Given the description of an element on the screen output the (x, y) to click on. 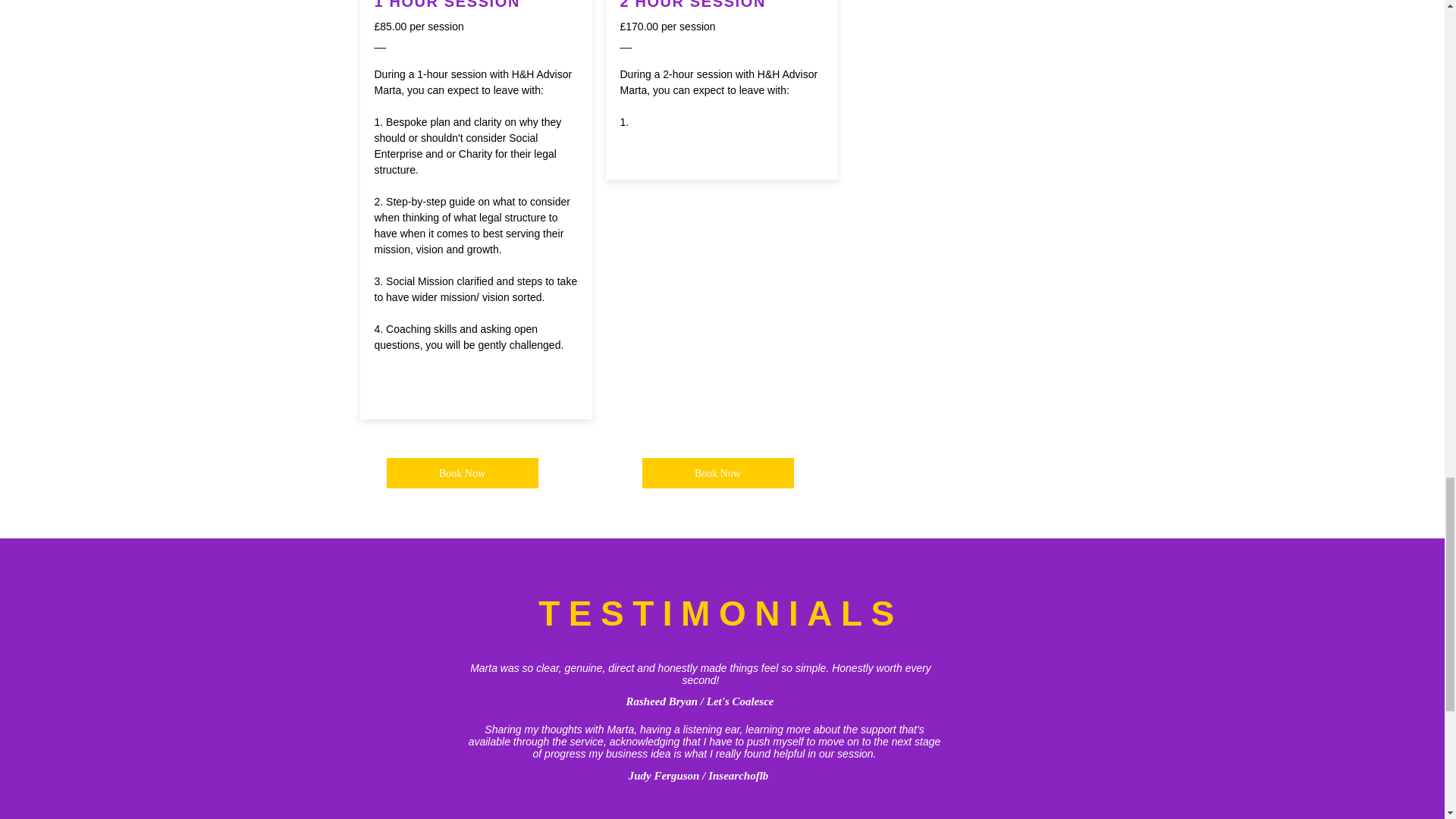
Book Now (717, 472)
Book Now (462, 472)
